Given the description of an element on the screen output the (x, y) to click on. 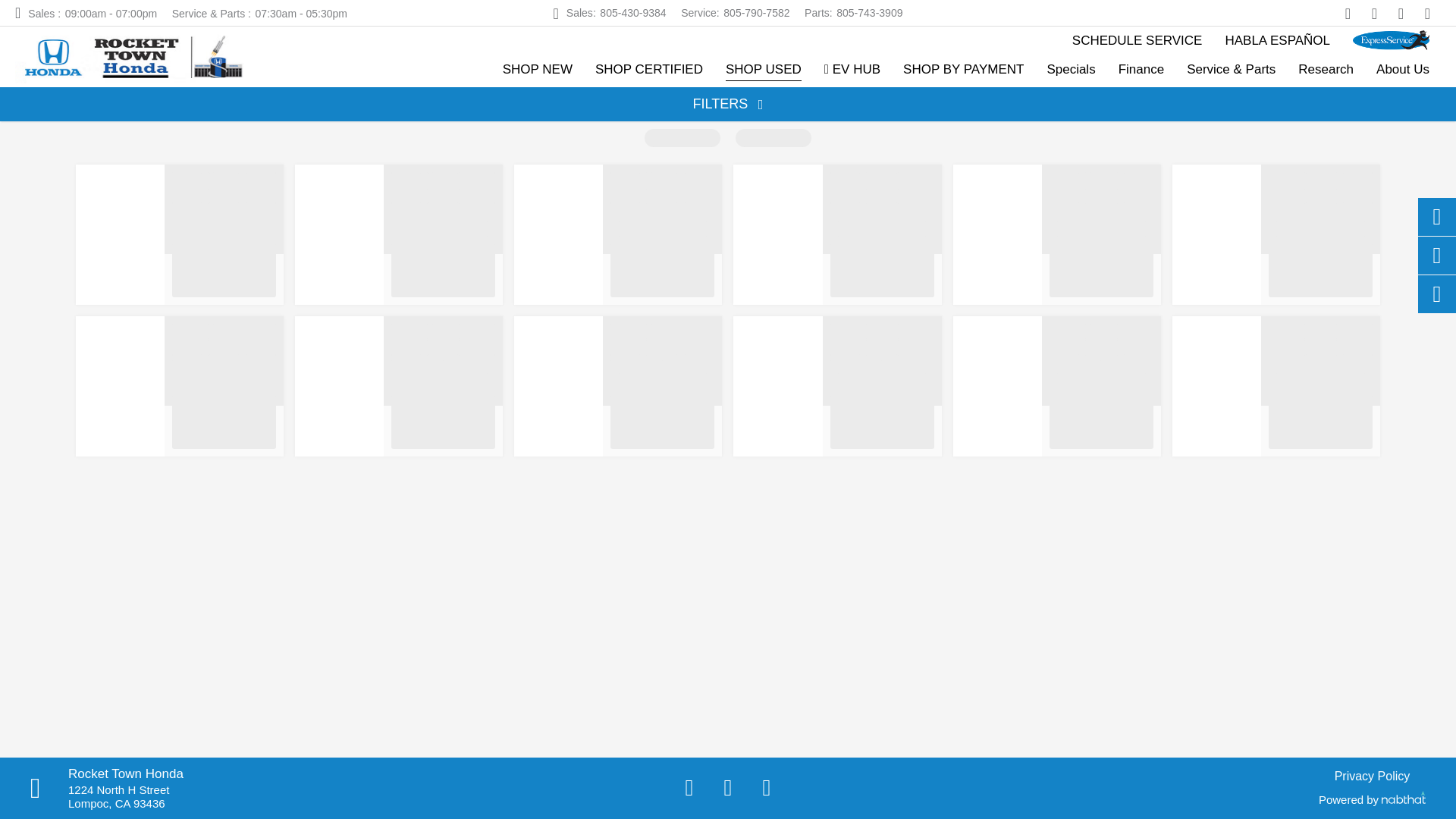
Rocket Town Honda (129, 56)
Call to 805-430-9384 (632, 13)
Go to Express Service (580, 13)
Call to Parts (1390, 40)
SHOP CERTIFIED (818, 13)
805-430-9384 (649, 68)
Go to Shop Certified (632, 13)
SHOP BY PAYMENT (818, 13)
